Given the description of an element on the screen output the (x, y) to click on. 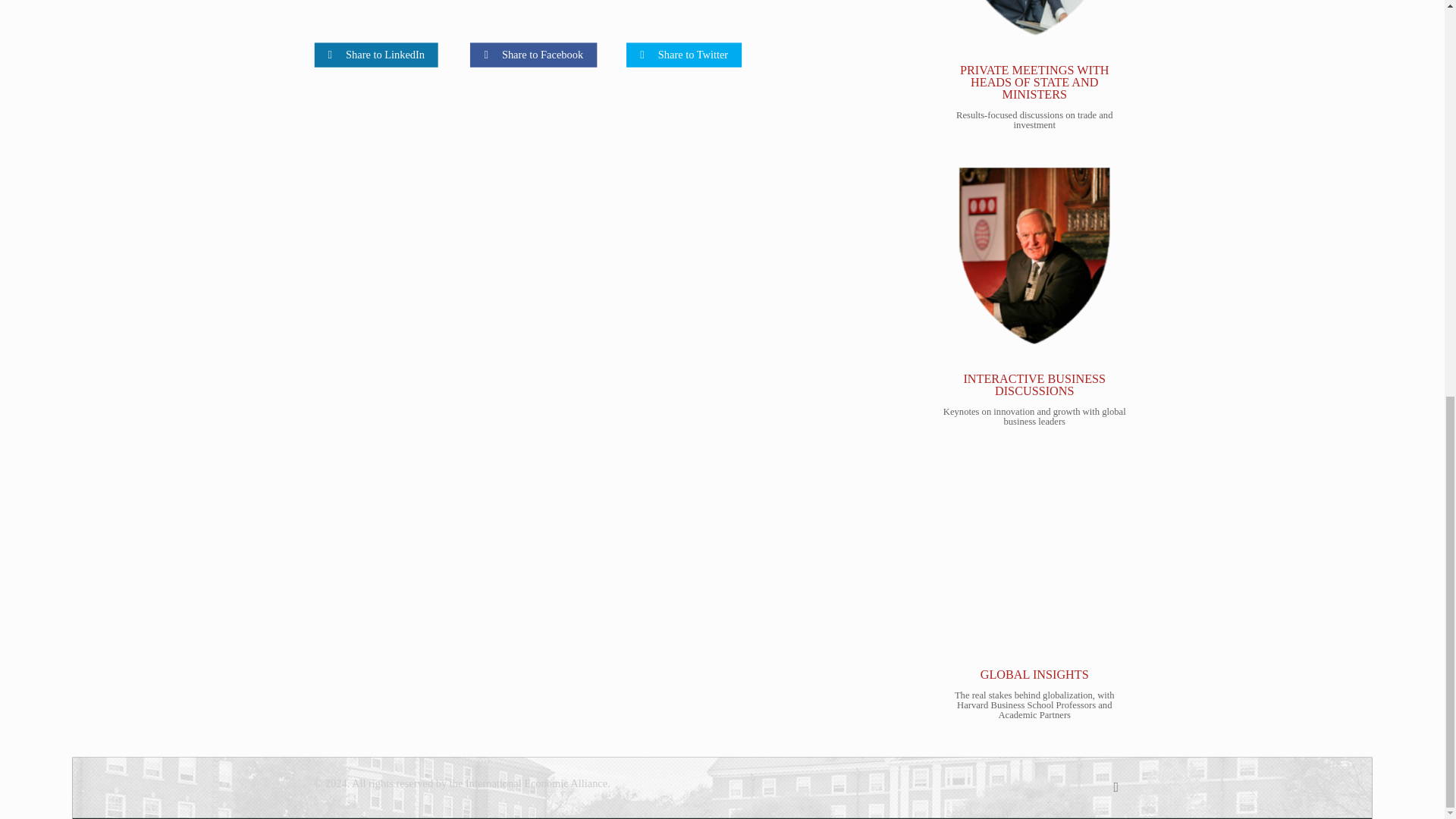
YouTube (1081, 784)
